Given the description of an element on the screen output the (x, y) to click on. 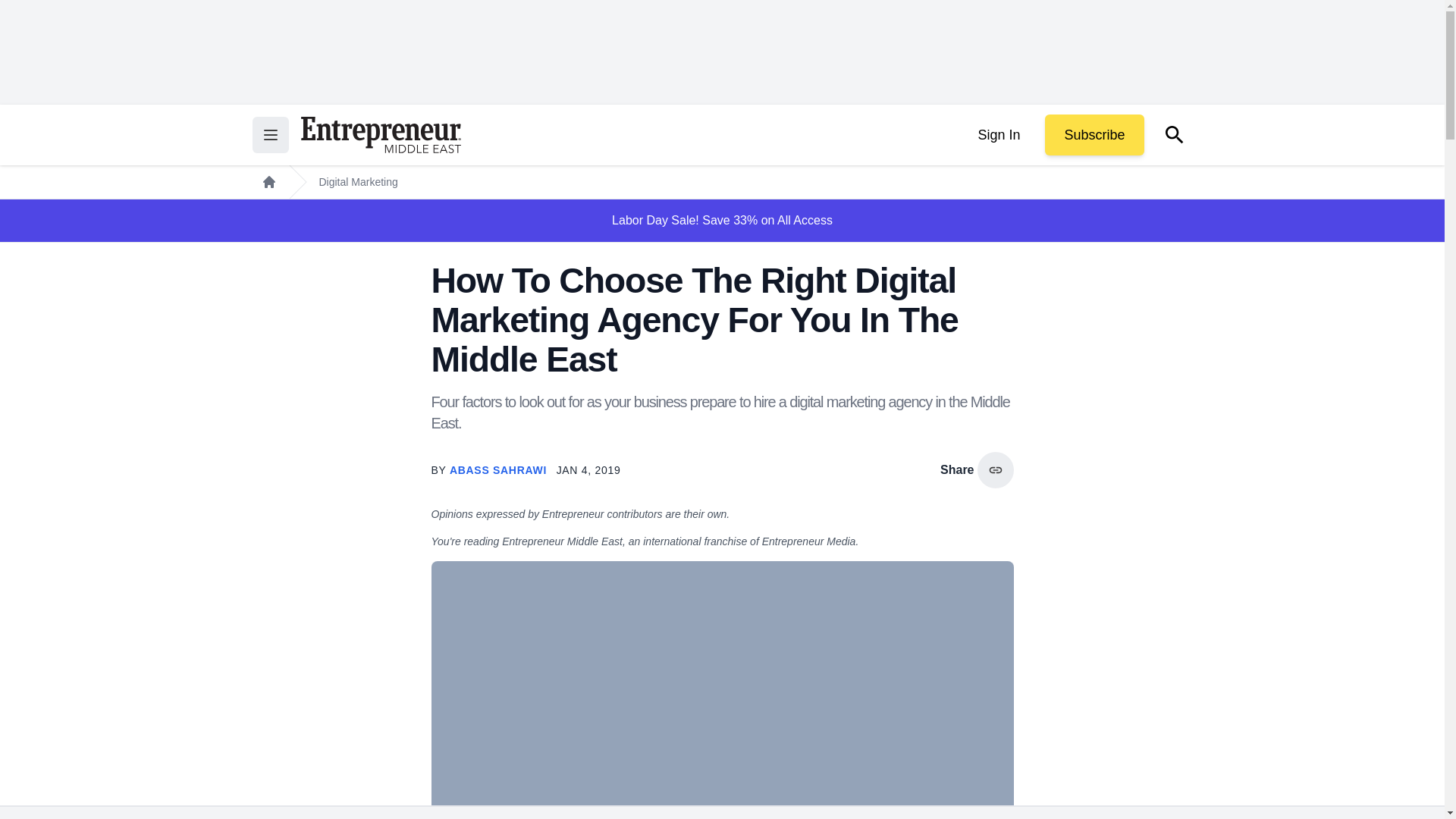
copy (994, 470)
Subscribe (1093, 134)
Return to the home page (380, 135)
Sign In (998, 134)
